Given the description of an element on the screen output the (x, y) to click on. 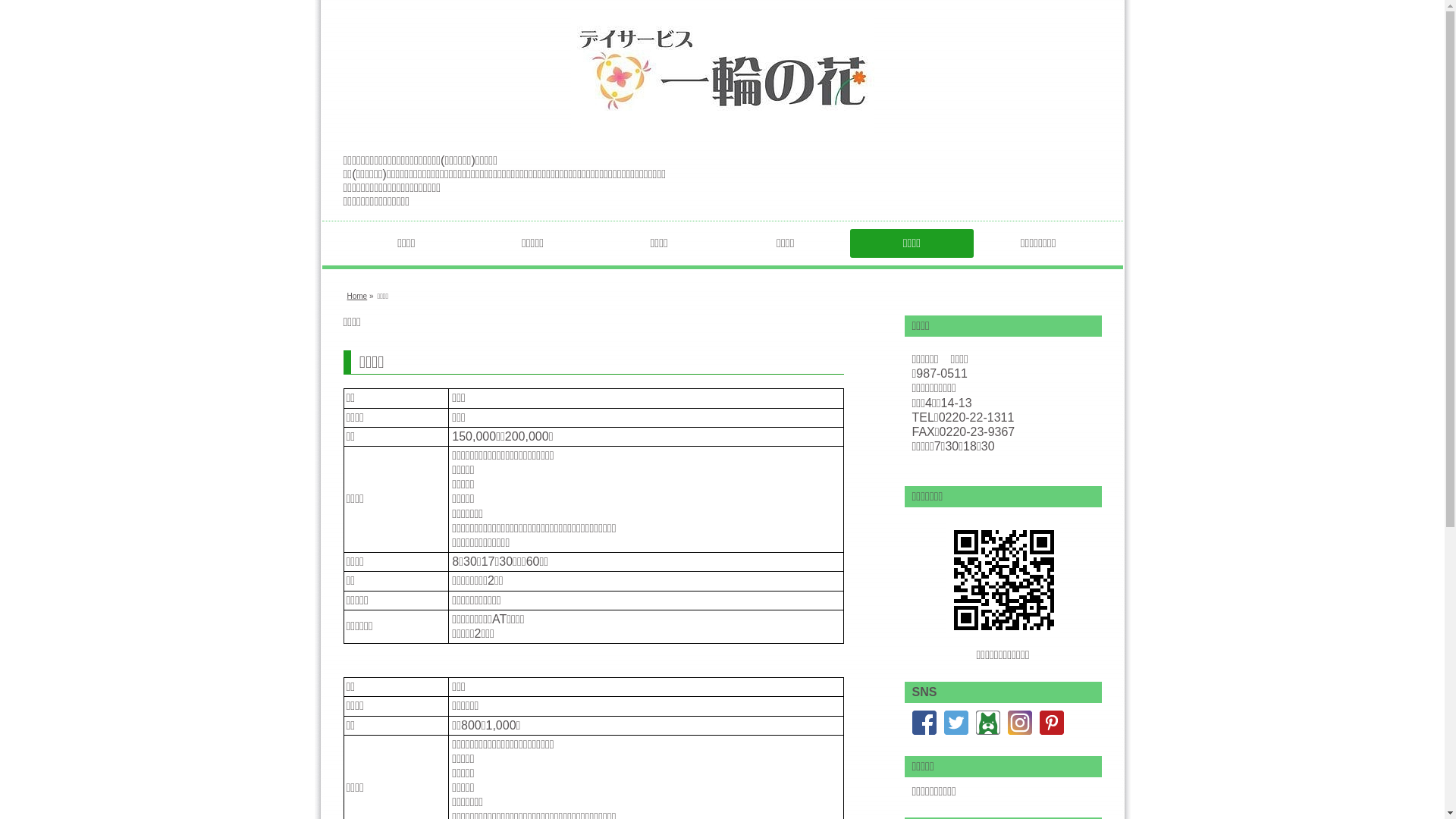
 Pinterest Element type: hover (1050, 721)
 Twitter Element type: hover (955, 721)
 Instagram Element type: hover (1019, 721)
 Facebook Element type: hover (923, 721)
 Ameba Element type: hover (987, 721)
Home Element type: text (357, 295)
